Given the description of an element on the screen output the (x, y) to click on. 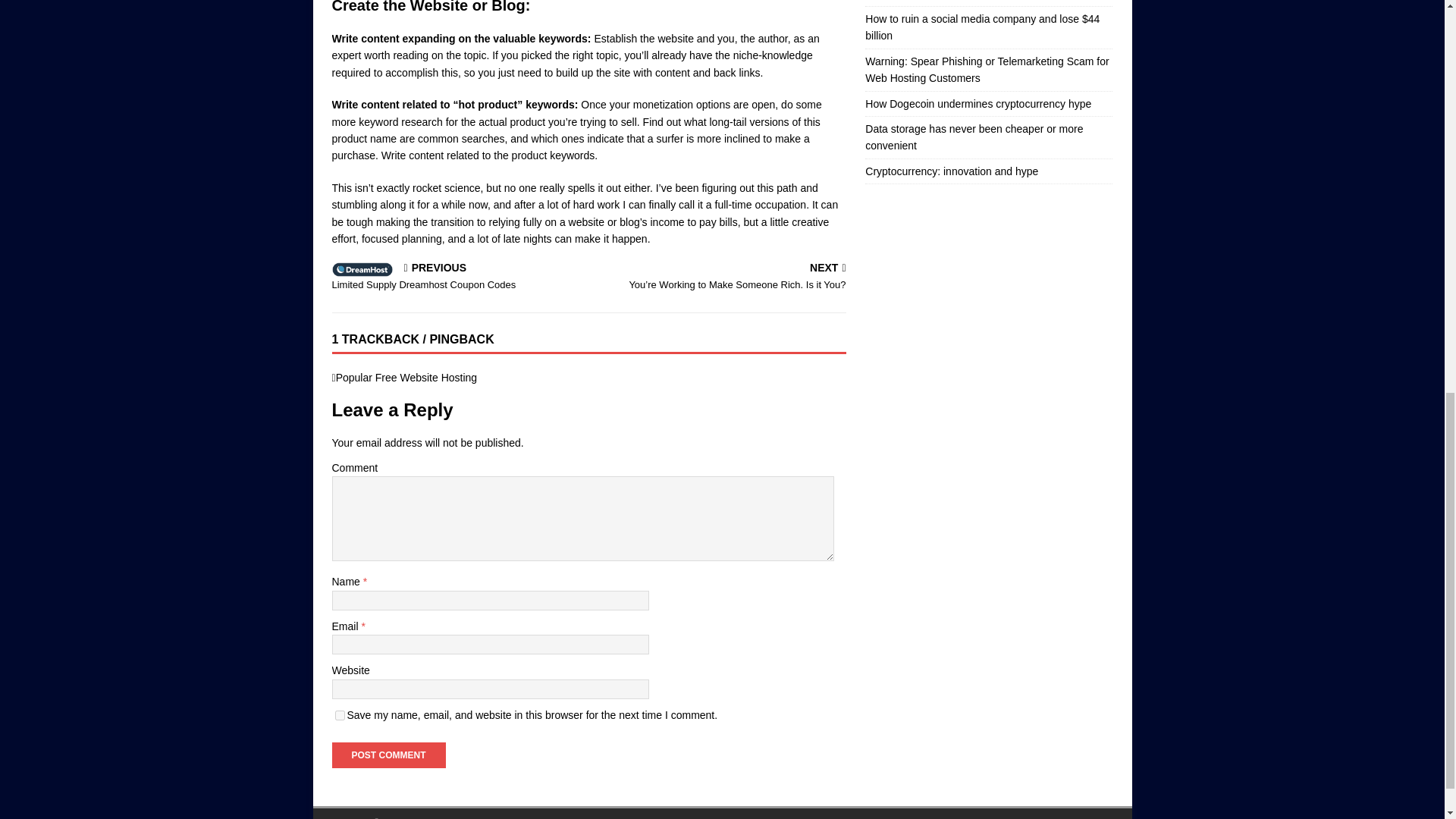
yes (339, 715)
How Dogecoin undermines cryptocurrency hype (977, 103)
Post Comment (457, 277)
Popular Free Website Hosting (388, 755)
Post Comment (406, 377)
